Given the description of an element on the screen output the (x, y) to click on. 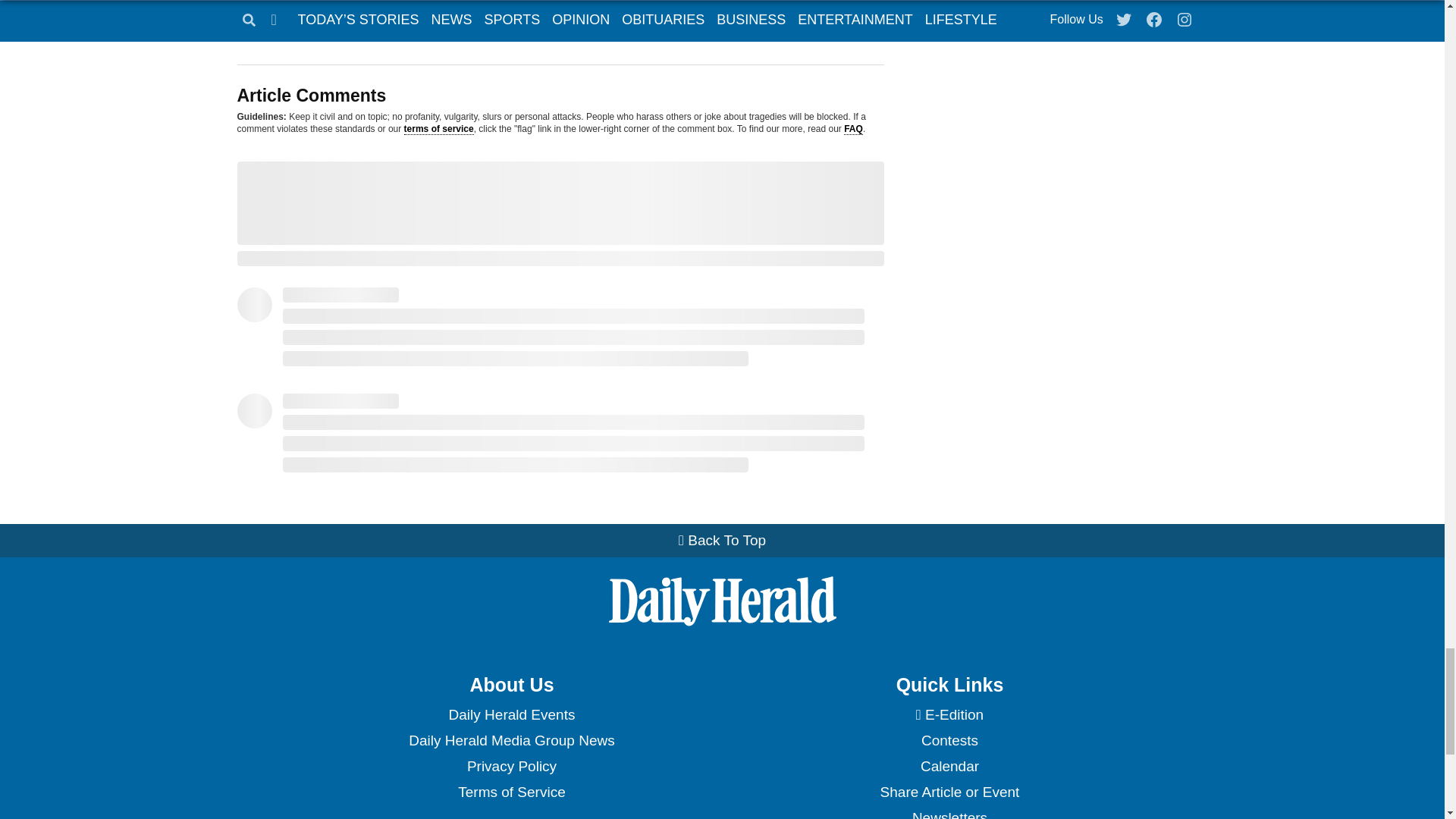
Daily Herald Events (511, 714)
